Given the description of an element on the screen output the (x, y) to click on. 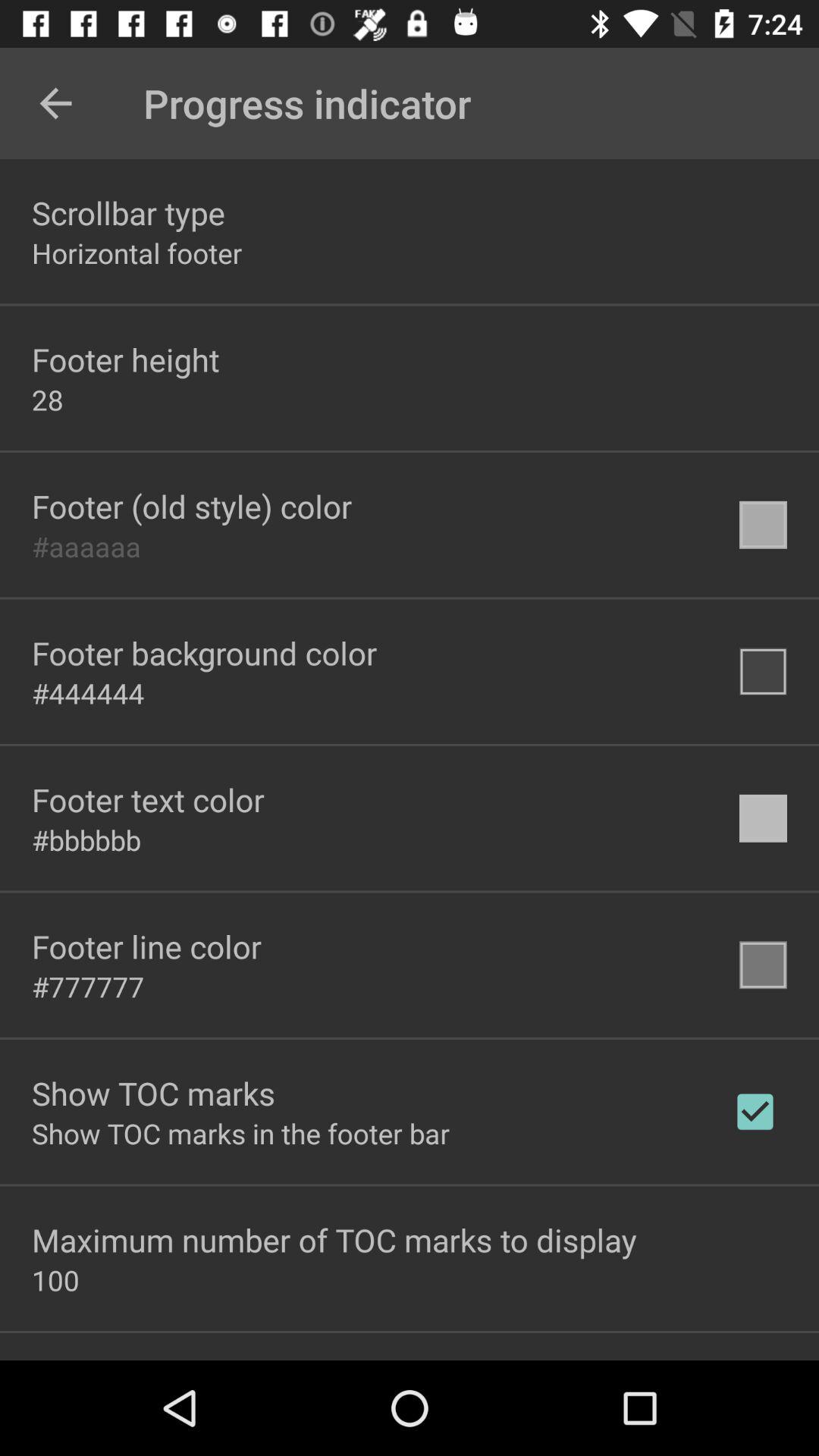
click the icon to the right of the show toc marks (755, 1111)
